Given the description of an element on the screen output the (x, y) to click on. 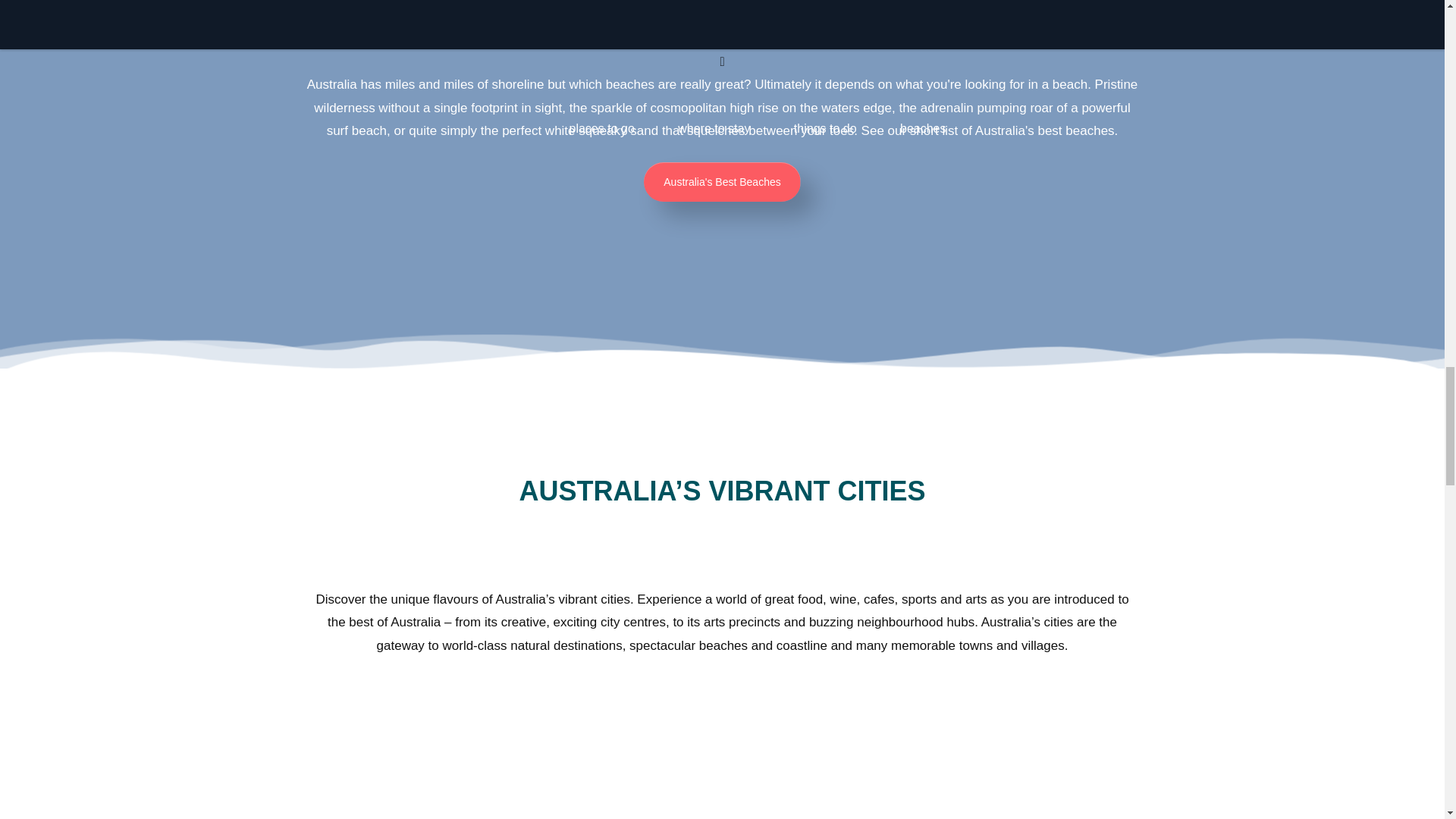
SYDNEY (340, 766)
ADELAIDE (1100, 766)
BRISBANE (847, 766)
MELBOURNE (593, 766)
Australia'S Best Beaches (721, 181)
